Given the description of an element on the screen output the (x, y) to click on. 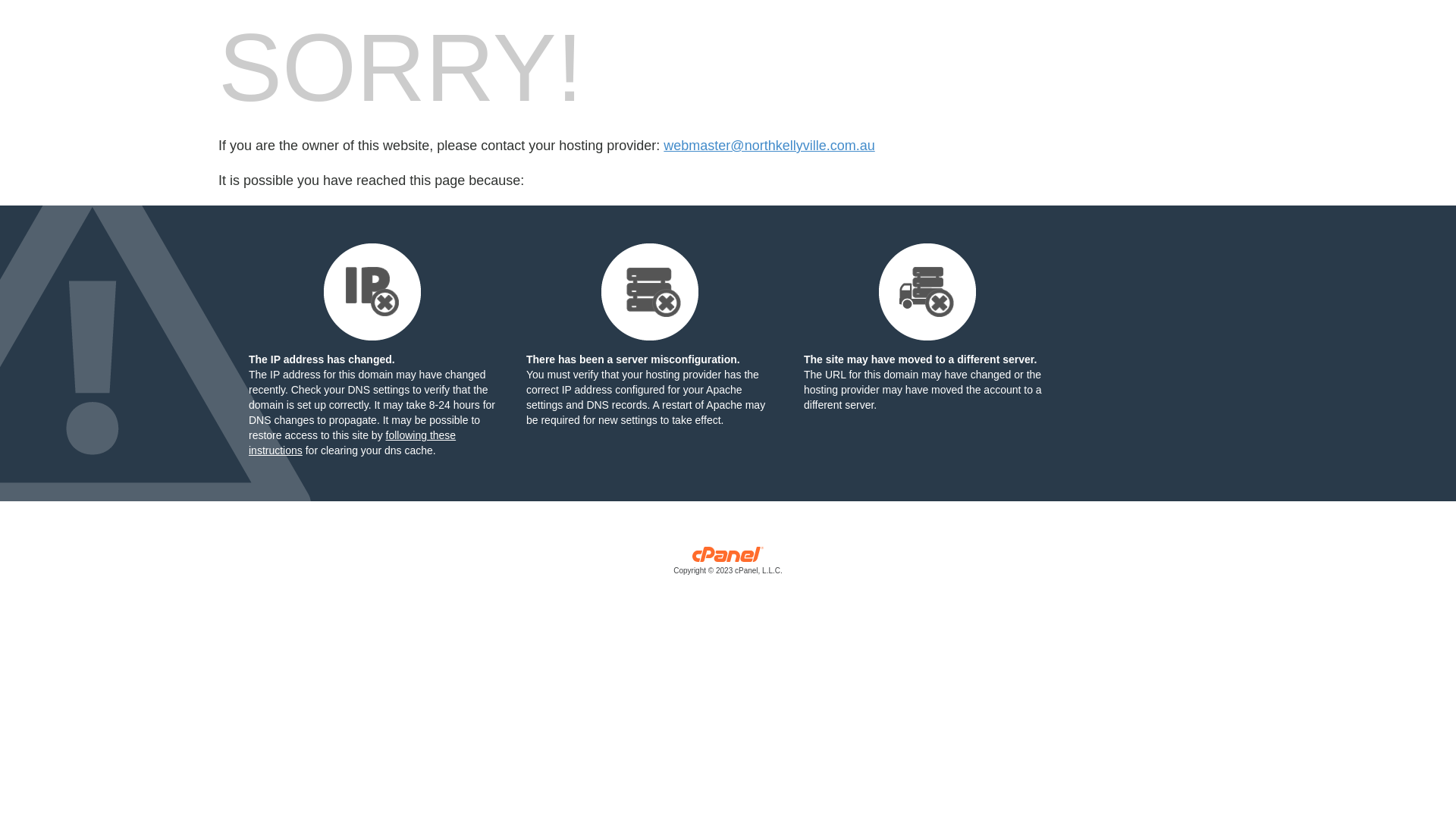
webmaster@northkellyville.com.au Element type: text (768, 145)
following these instructions Element type: text (351, 442)
